Given the description of an element on the screen output the (x, y) to click on. 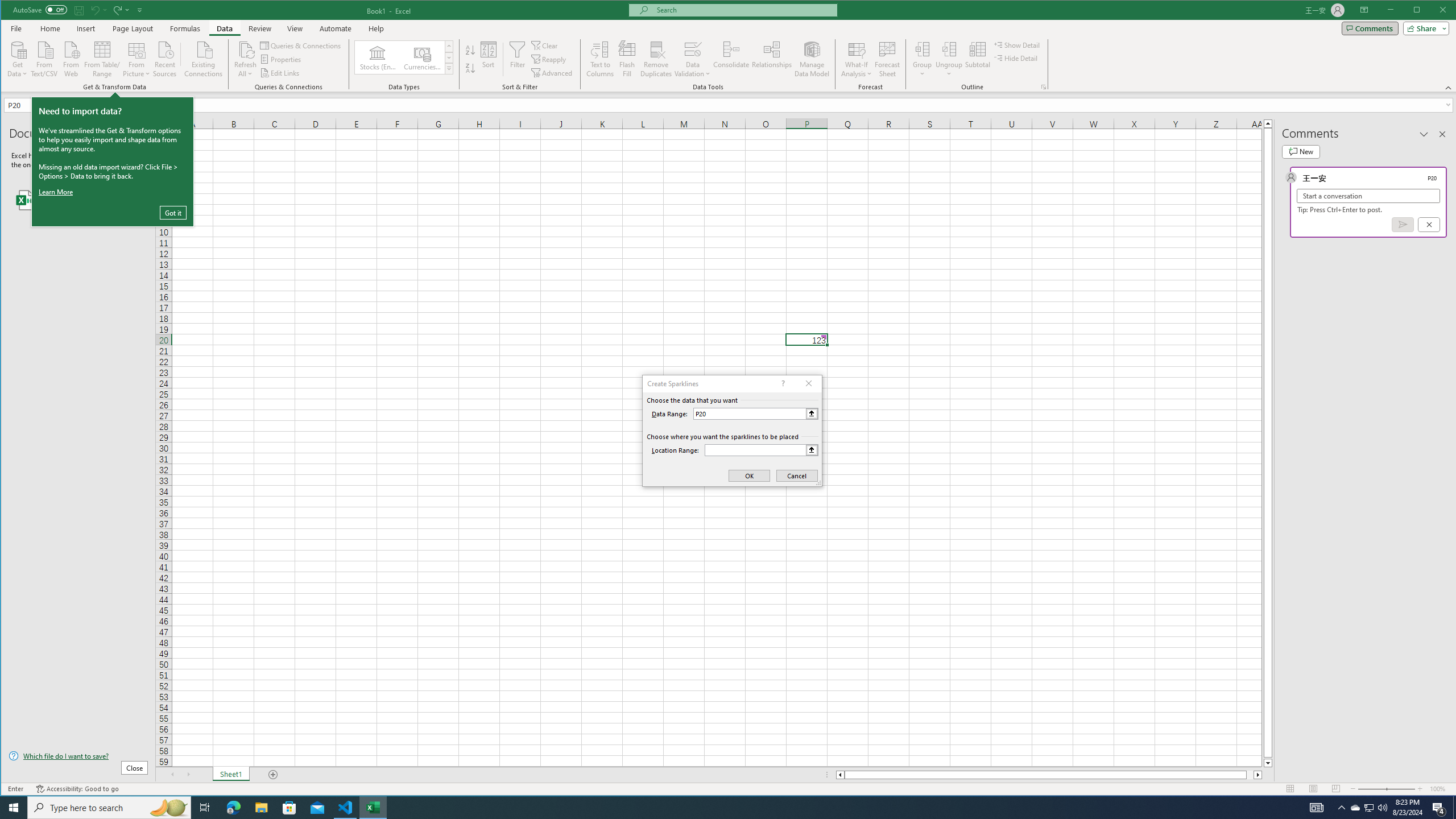
Show Detail (1017, 44)
Save (79, 9)
Class: MsoCommandBar (728, 45)
Scroll Left (172, 774)
Column right (1258, 774)
Page Break Preview (1335, 788)
Stocks (English) (377, 57)
Currencies (English) (422, 57)
Customize Quick Access Toolbar (140, 9)
Learn More (57, 191)
Collapse the Ribbon (1448, 87)
Page Layout (132, 28)
Scroll Right (188, 774)
Sheet1 (230, 774)
Sort Largest to Smallest (470, 68)
